Given the description of an element on the screen output the (x, y) to click on. 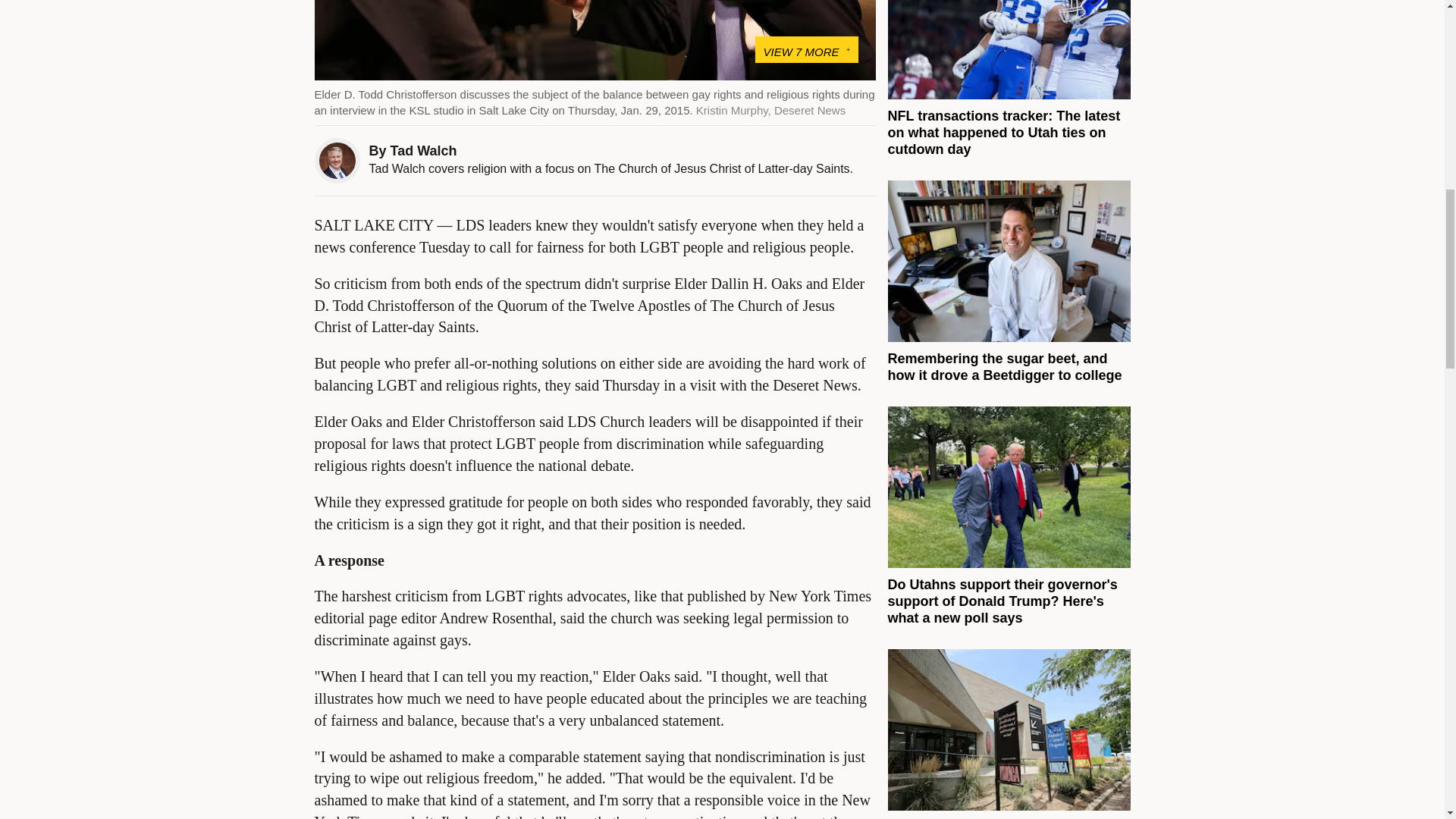
Tad Walch (423, 150)
